Given the description of an element on the screen output the (x, y) to click on. 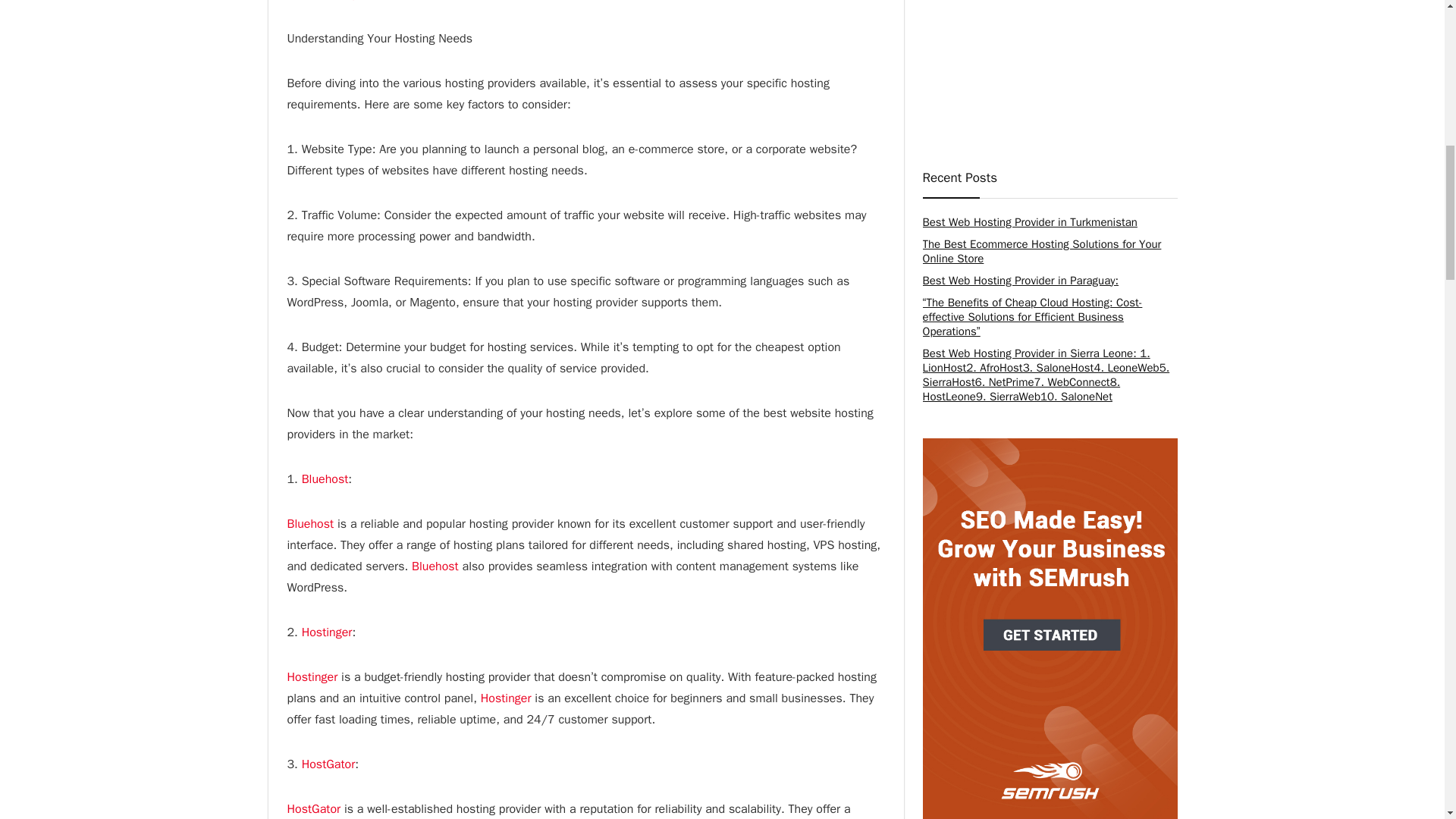
HostGator (328, 764)
HostGator (313, 807)
Bluehost (435, 565)
Bluehost (309, 522)
Hostinger (311, 676)
Hostinger (326, 631)
Bluehost (325, 478)
Hostinger (505, 697)
ScalaHosting (321, 0)
MochaHost (416, 0)
